Given the description of an element on the screen output the (x, y) to click on. 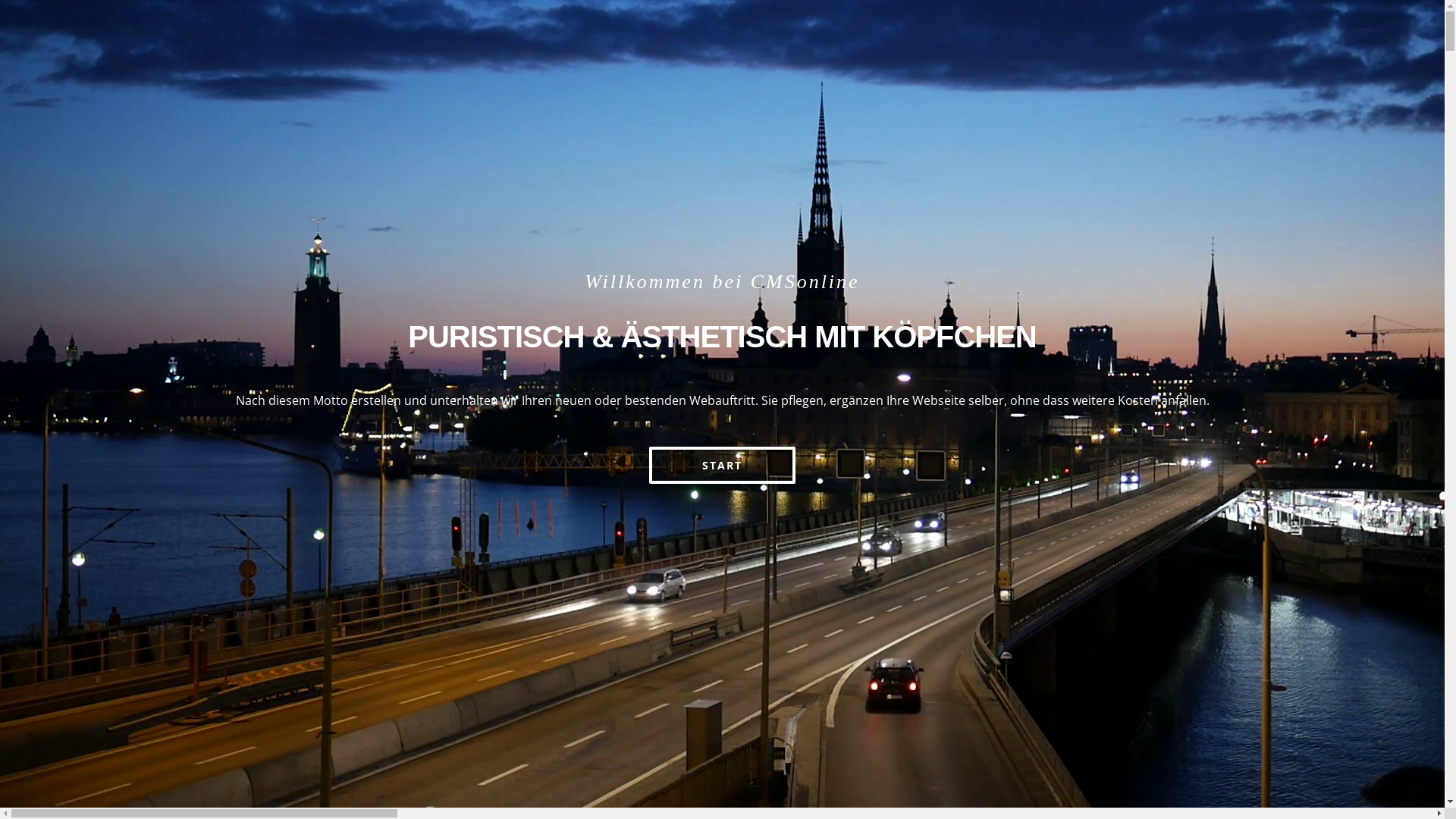
START Element type: text (722, 464)
